Given the description of an element on the screen output the (x, y) to click on. 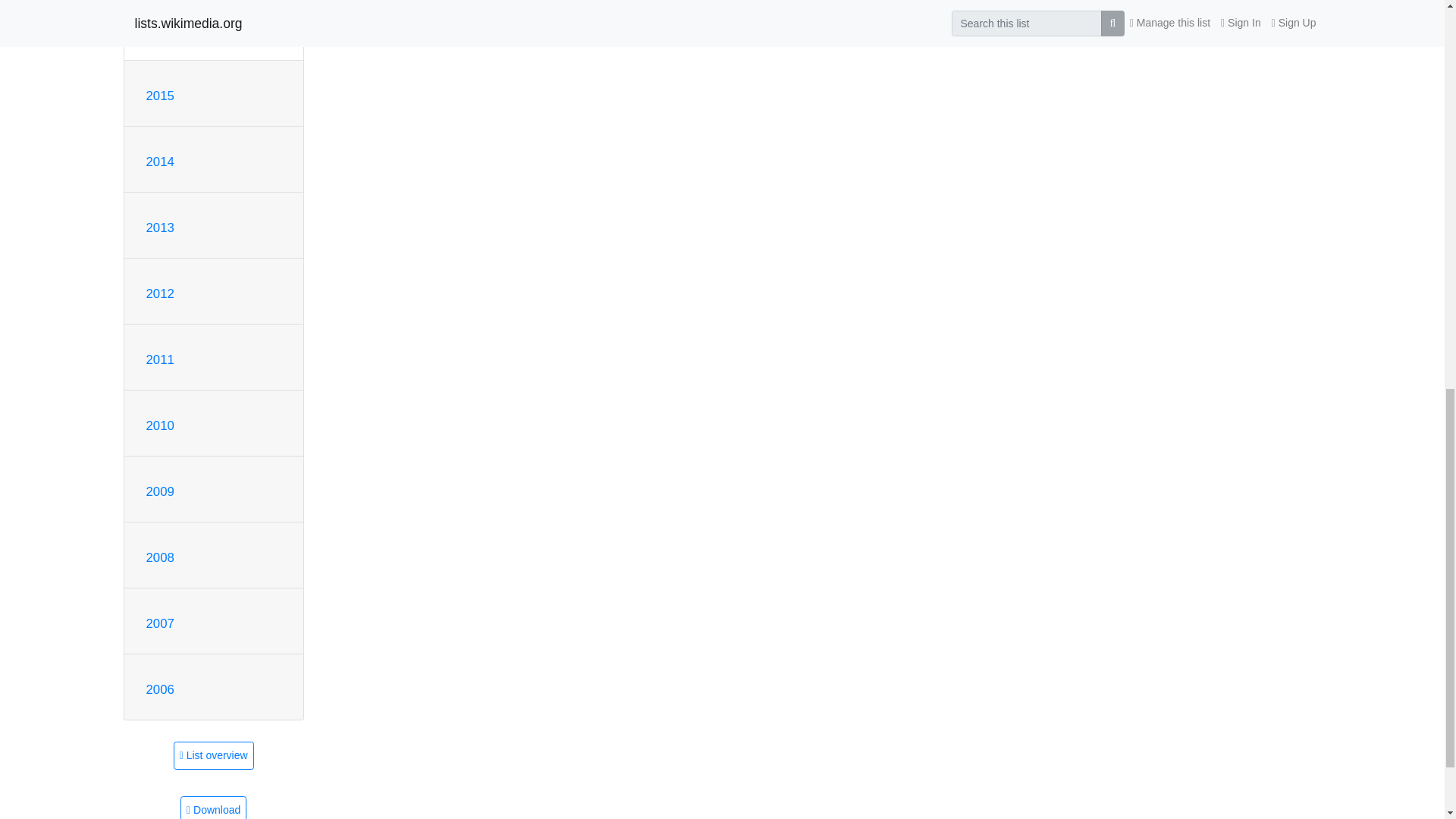
This message in gzipped mbox format (213, 807)
